Given the description of an element on the screen output the (x, y) to click on. 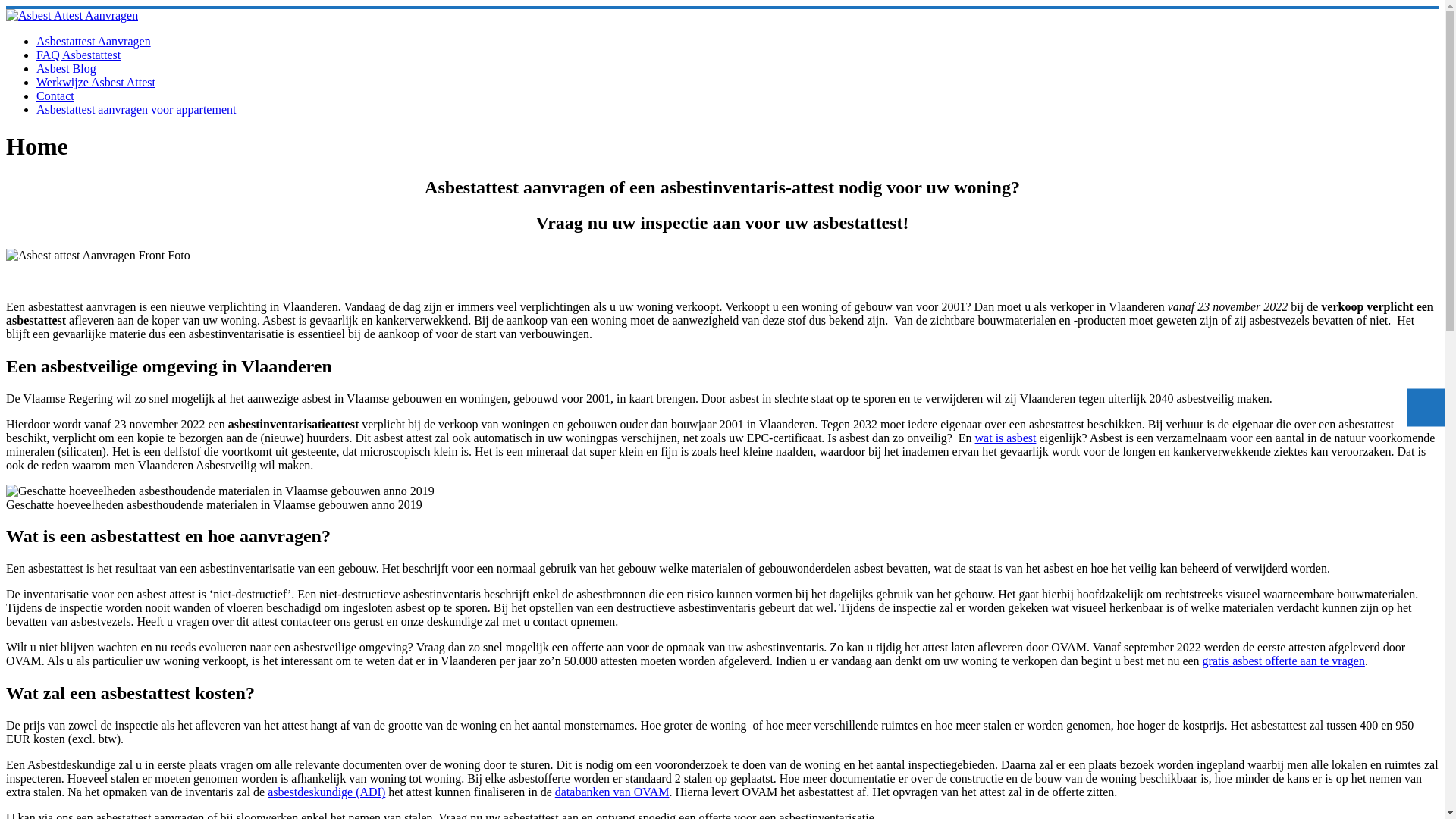
Asbestattest aanvragen voor appartement Element type: text (135, 109)
FAQ Asbestattest Element type: text (78, 54)
wat is asbest Element type: text (1005, 436)
databanken van OVAM Element type: text (612, 791)
asbestdeskundige (ADI) Element type: text (326, 791)
Werkwijze Asbest Attest Element type: text (95, 81)
gratis asbest offerte aan te vragen Element type: text (1283, 660)
Asbest Blog Element type: text (66, 68)
Contact Element type: text (55, 95)
Asbestattest Aanvragen Element type: text (93, 40)
Skip to content Element type: text (5, 5)
